Given the description of an element on the screen output the (x, y) to click on. 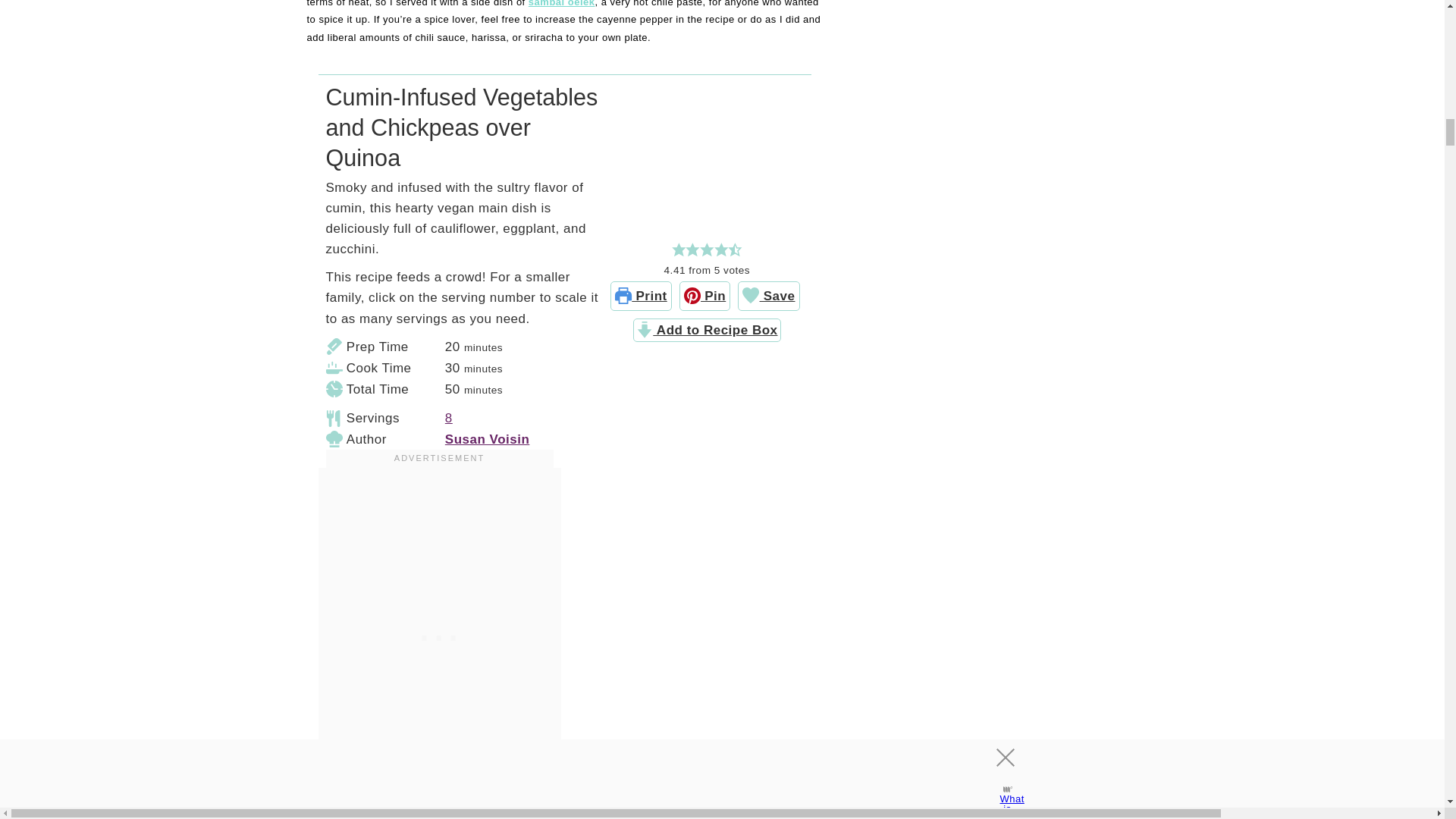
Print (640, 296)
Pin (704, 296)
Save (768, 296)
sambal oelek (561, 3)
Add to Recipe Box (706, 330)
Susan Voisin (487, 439)
